Given the description of an element on the screen output the (x, y) to click on. 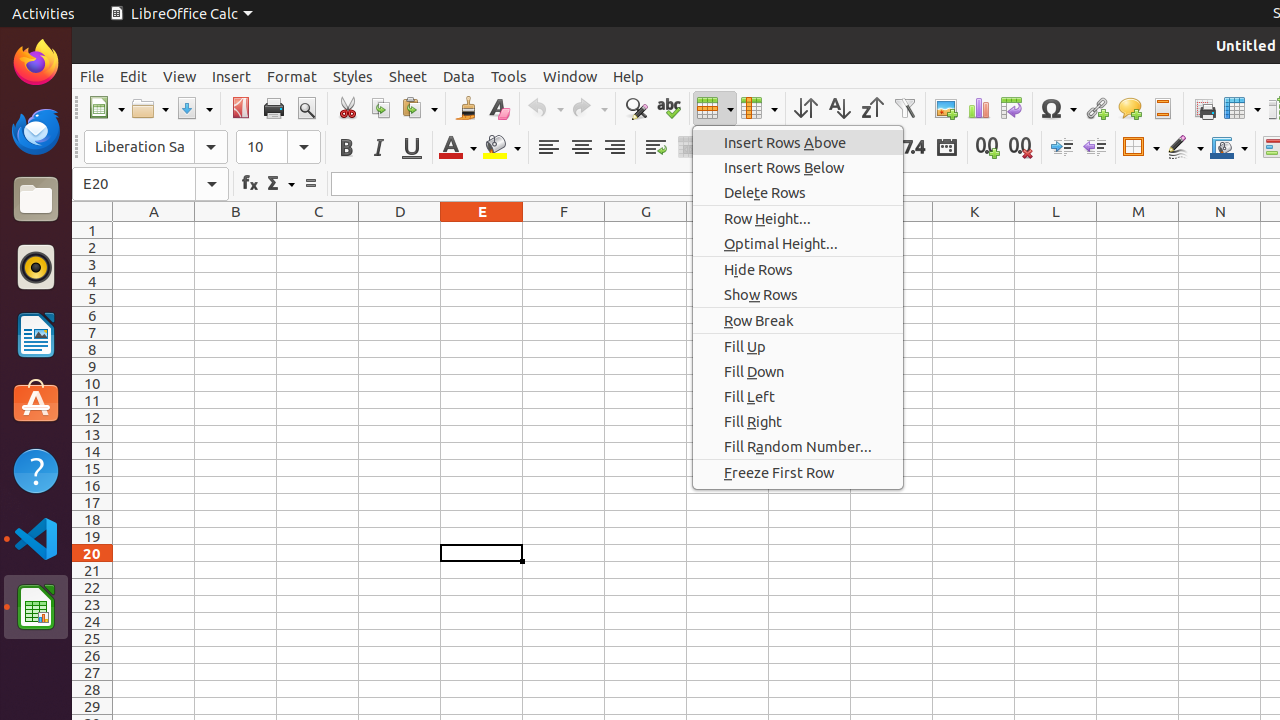
Ubuntu Software Element type: push-button (36, 402)
LibreOffice Calc Element type: push-button (36, 607)
LibreOffice Calc Element type: menu (181, 13)
LibreOffice Writer Element type: push-button (36, 334)
Rhythmbox Element type: push-button (36, 267)
